Given the description of an element on the screen output the (x, y) to click on. 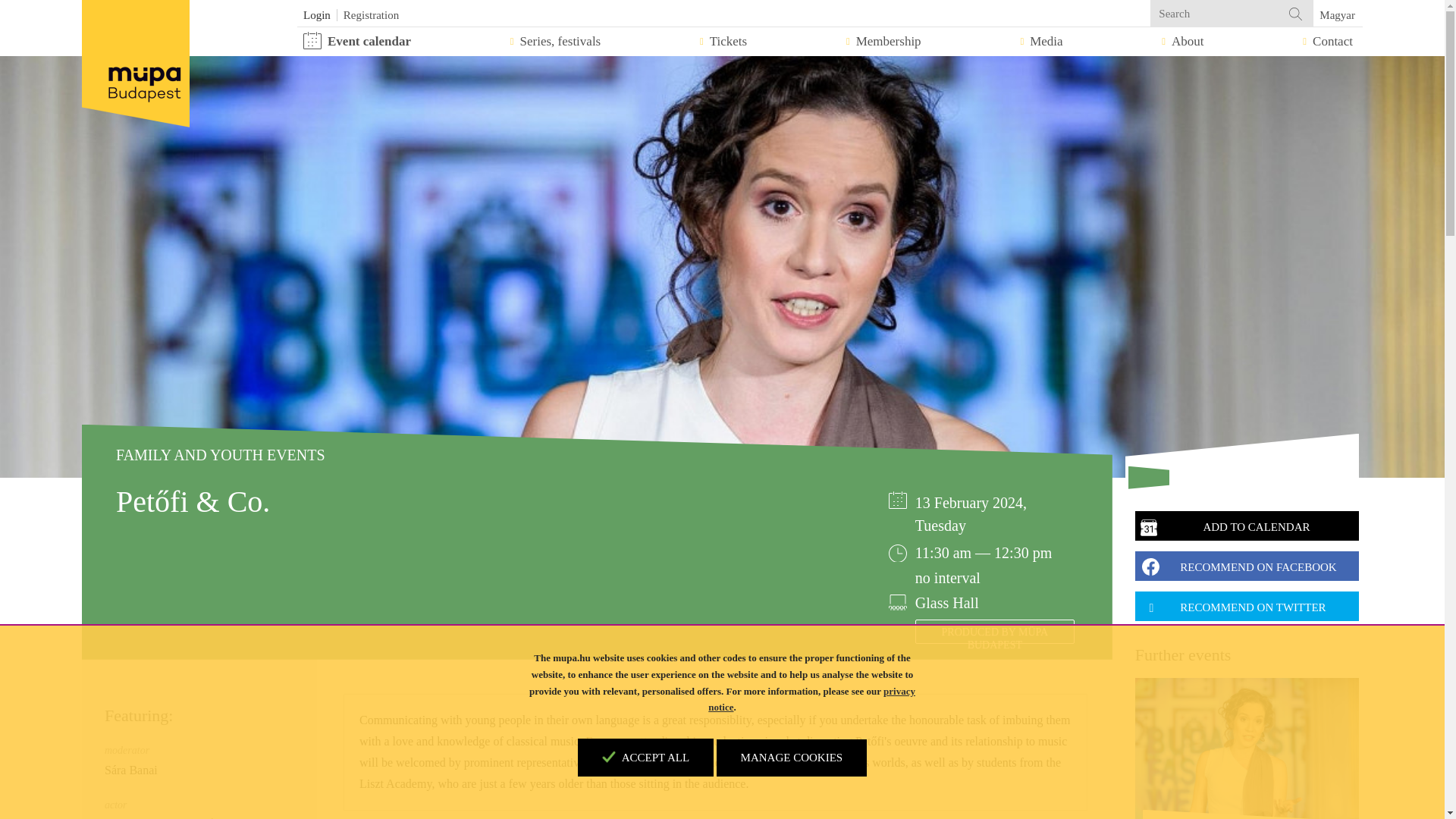
Series, festivals (555, 41)
Magyar (1334, 15)
About (1182, 41)
Media (1040, 41)
Login (317, 15)
Membership (883, 41)
Event calendar (356, 41)
Registration (370, 15)
Tickets (723, 41)
